Given the description of an element on the screen output the (x, y) to click on. 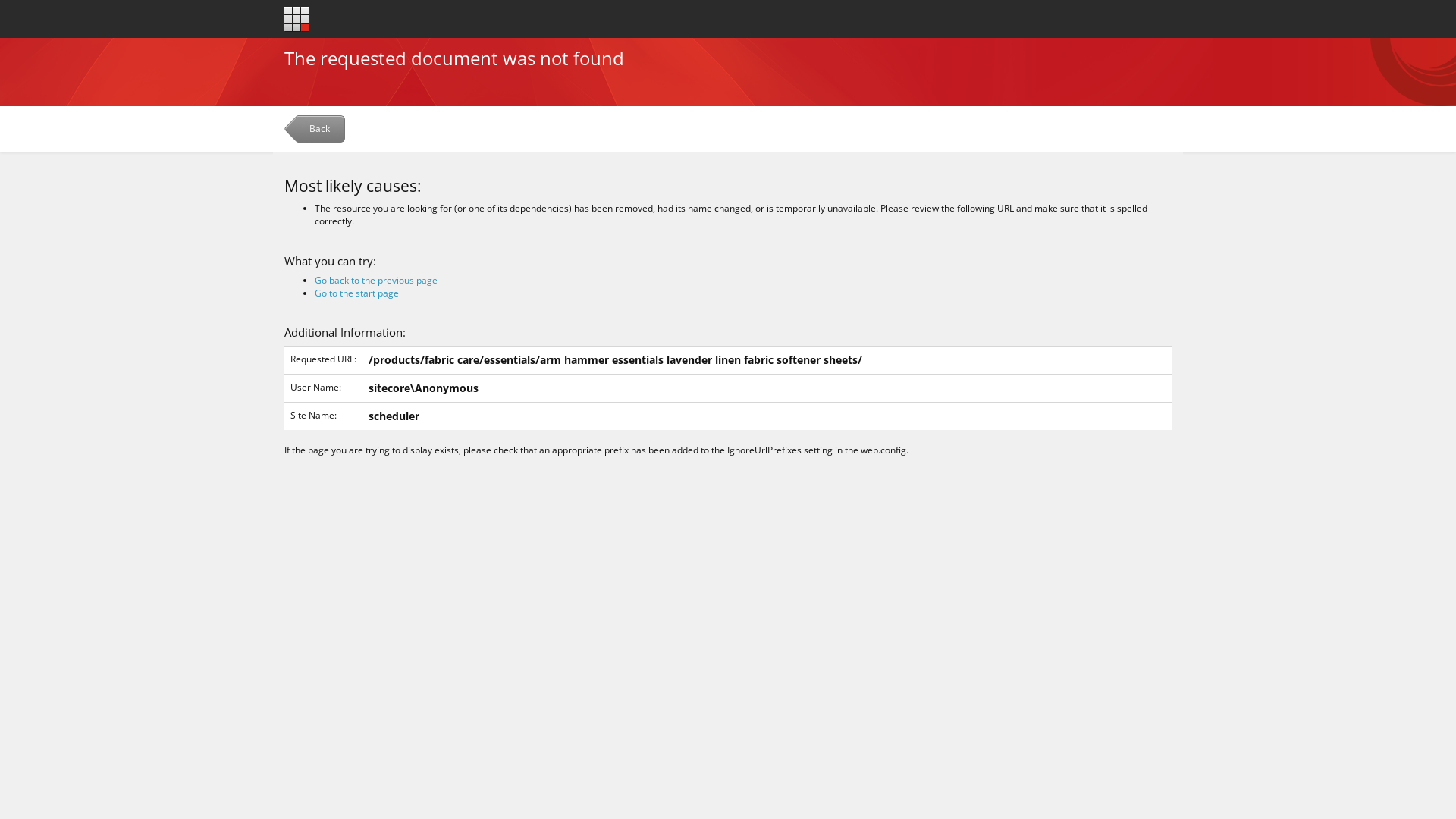
Go to the start page Element type: hover (296, 18)
Back Element type: text (316, 131)
Go back to the previous page Element type: text (375, 279)
Go to the start page Element type: text (356, 292)
